Given the description of an element on the screen output the (x, y) to click on. 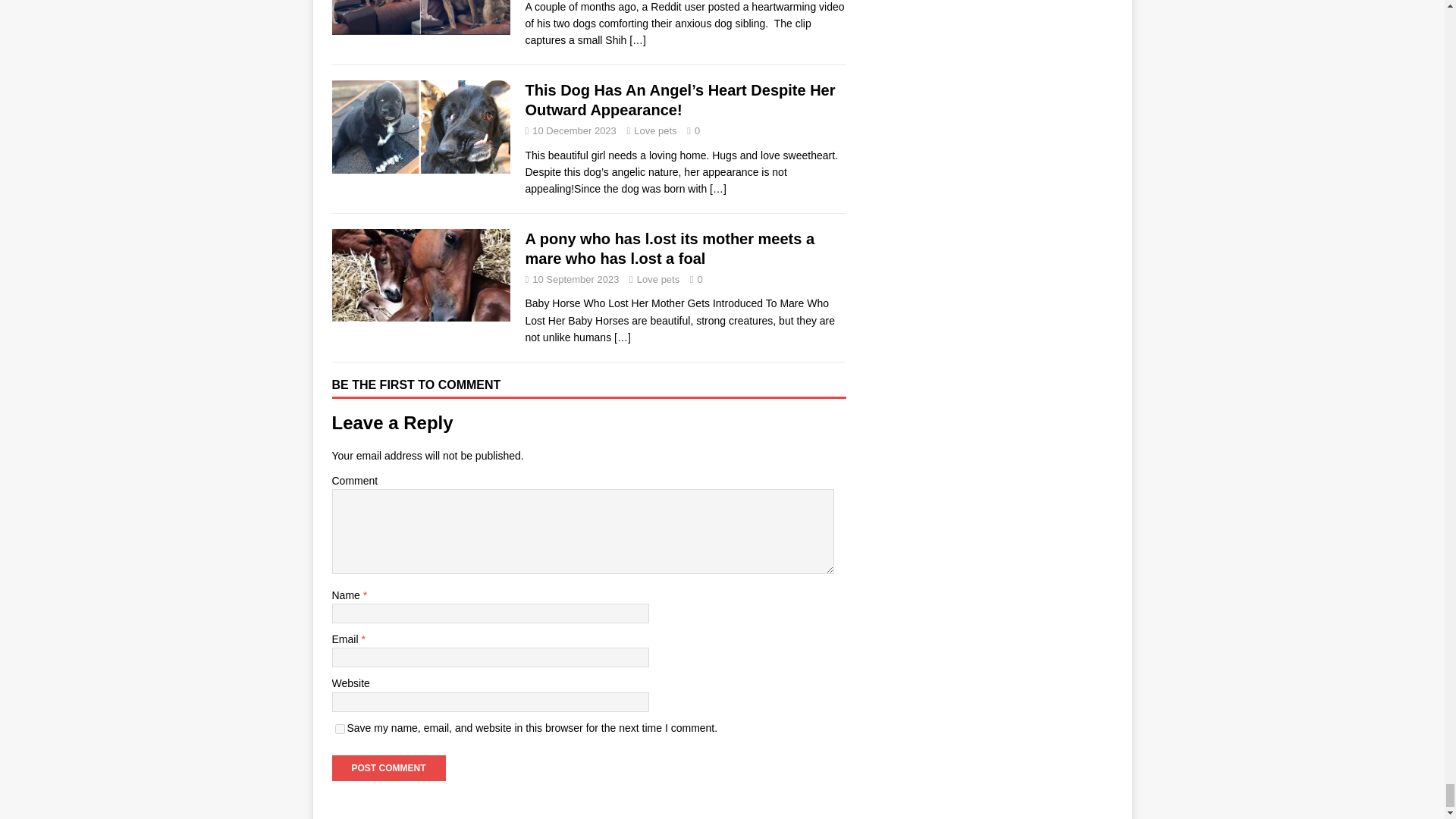
Love pets (655, 130)
yes (339, 728)
Love pets (658, 279)
Post Comment (388, 768)
Post Comment (388, 768)
